Given the description of an element on the screen output the (x, y) to click on. 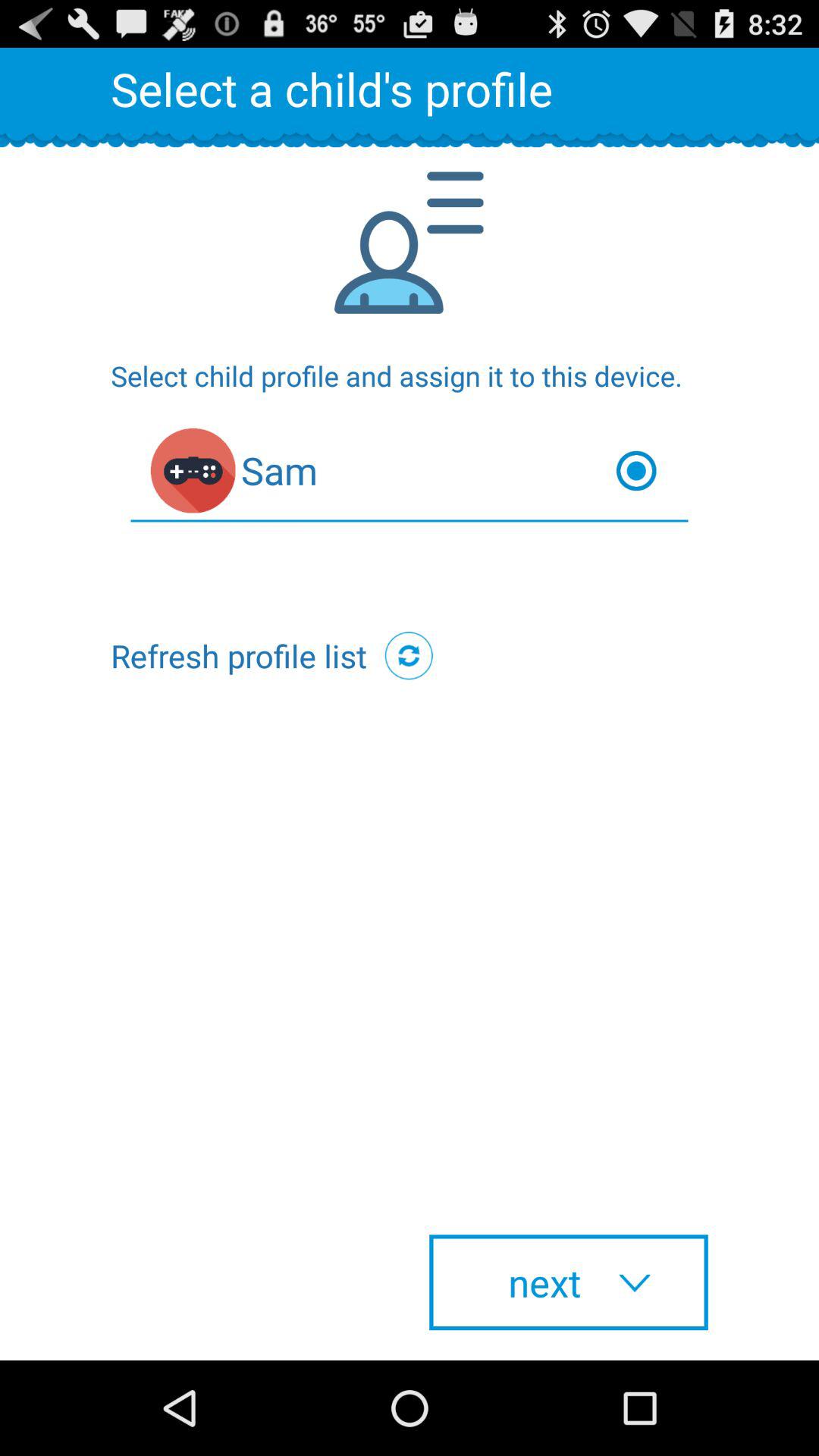
open next button (568, 1282)
